Given the description of an element on the screen output the (x, y) to click on. 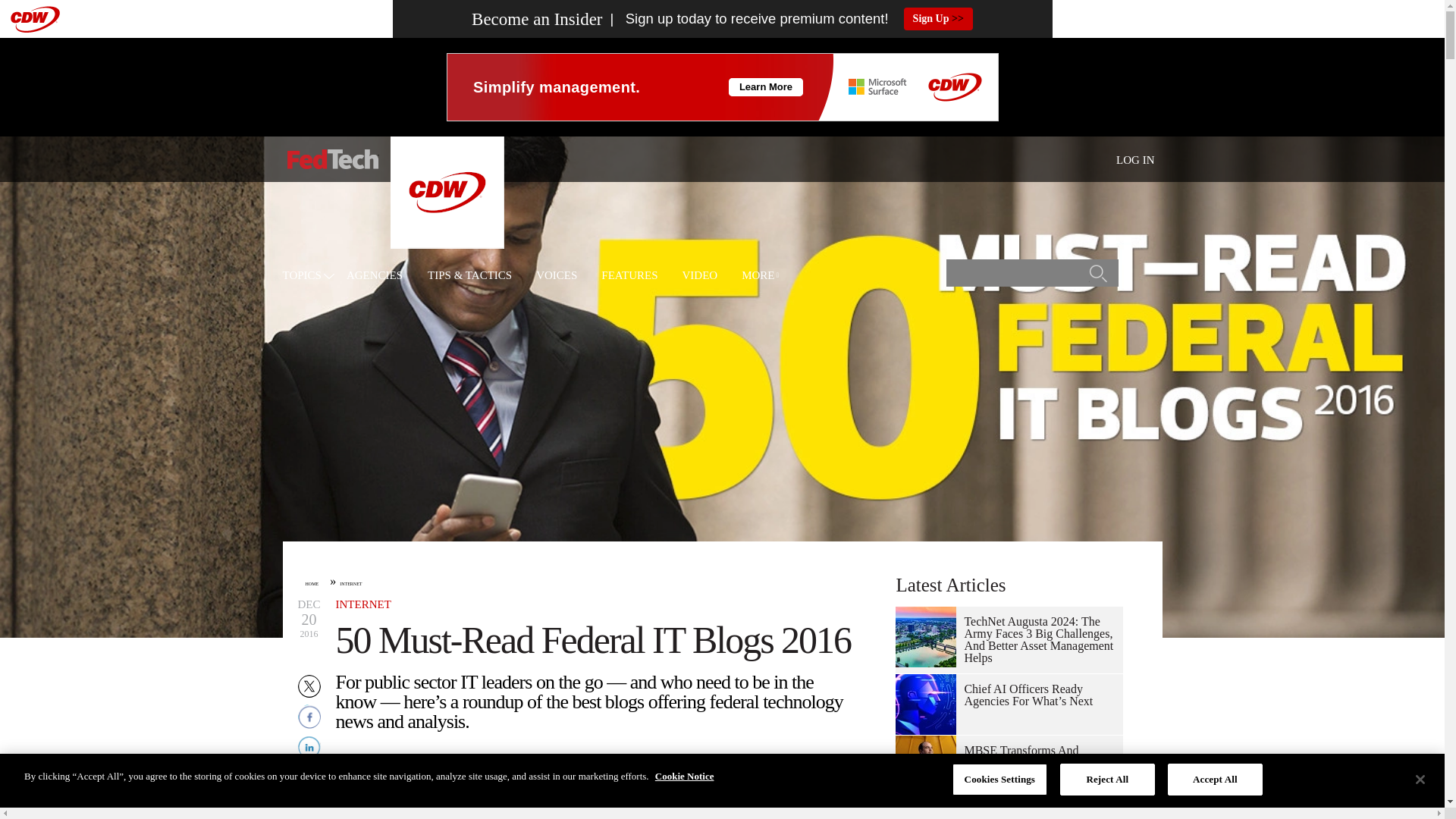
FEATURES (629, 275)
VOICES (555, 275)
AGENCIES (374, 275)
CDW (446, 244)
Sign up today to receive premium content! (745, 19)
User menu (1135, 160)
advertisement (721, 87)
LOG IN (1135, 159)
Home (332, 158)
